Given the description of an element on the screen output the (x, y) to click on. 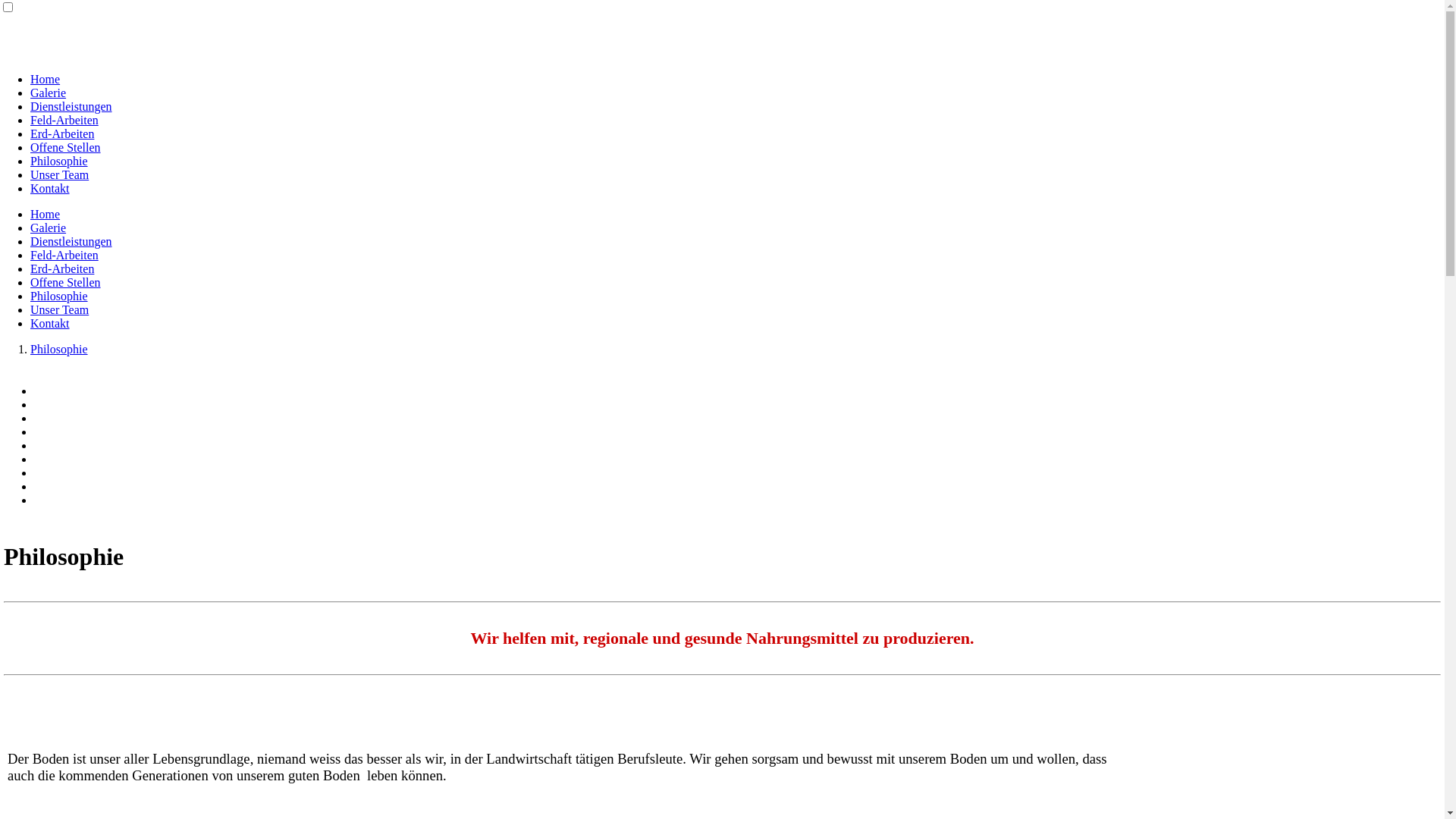
Galerie Element type: text (47, 227)
Philosophie Element type: text (58, 348)
Offene Stellen Element type: text (65, 282)
Philosophie Element type: text (58, 295)
Unser Team Element type: text (59, 309)
Dienstleistungen Element type: text (71, 106)
Dienstleistungen Element type: text (71, 241)
Home Element type: text (44, 78)
Kontakt Element type: text (49, 322)
Feld-Arbeiten Element type: text (64, 119)
Feld-Arbeiten Element type: text (64, 254)
Unser Team Element type: text (59, 174)
Philosophie Element type: text (58, 160)
Galerie Element type: text (47, 92)
Offene Stellen Element type: text (65, 147)
Erd-Arbeiten Element type: text (62, 133)
Erd-Arbeiten Element type: text (62, 268)
Home Element type: text (44, 213)
Kontakt Element type: text (49, 188)
